Given the description of an element on the screen output the (x, y) to click on. 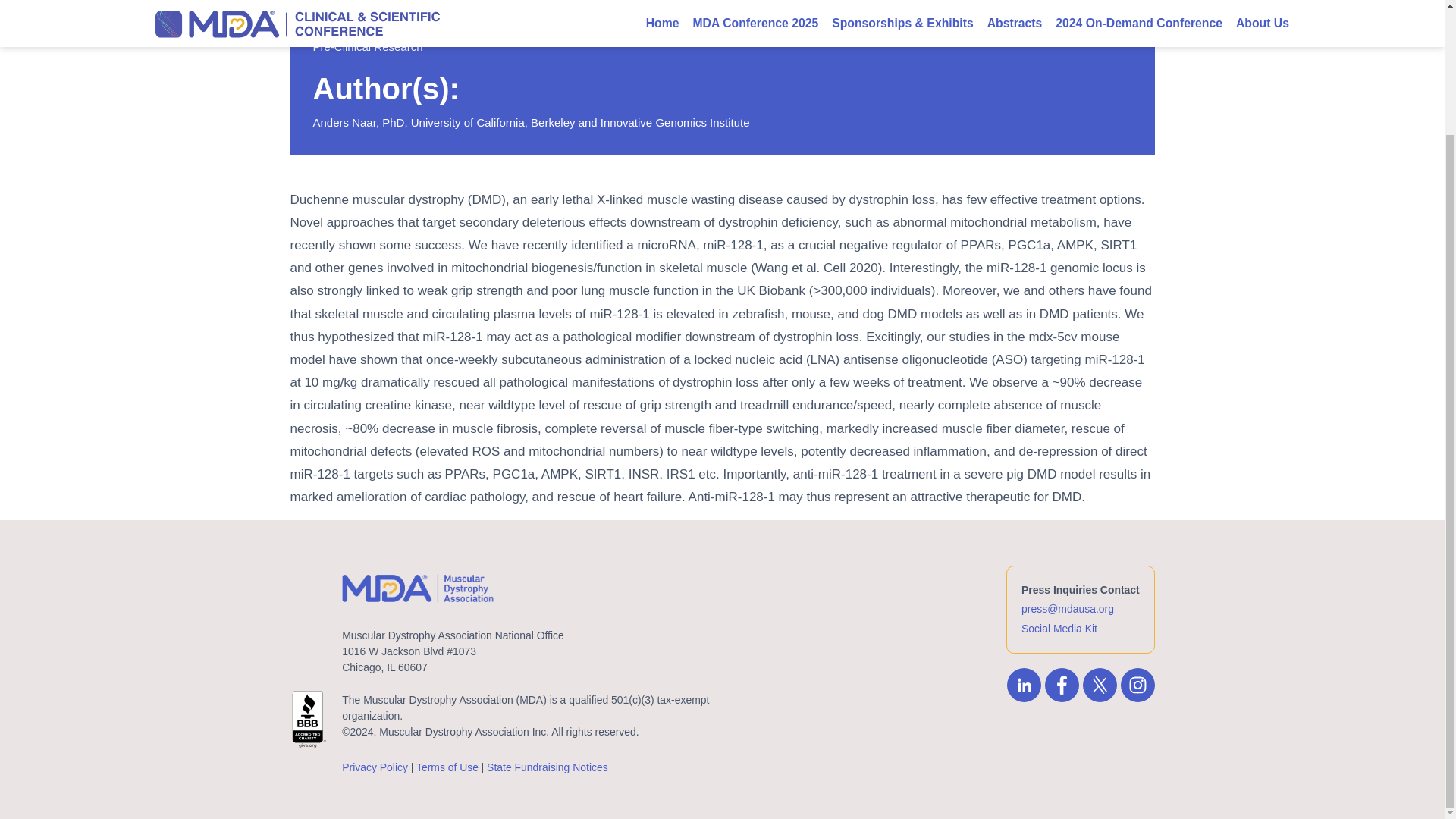
LinkedIn (1026, 684)
